Given the description of an element on the screen output the (x, y) to click on. 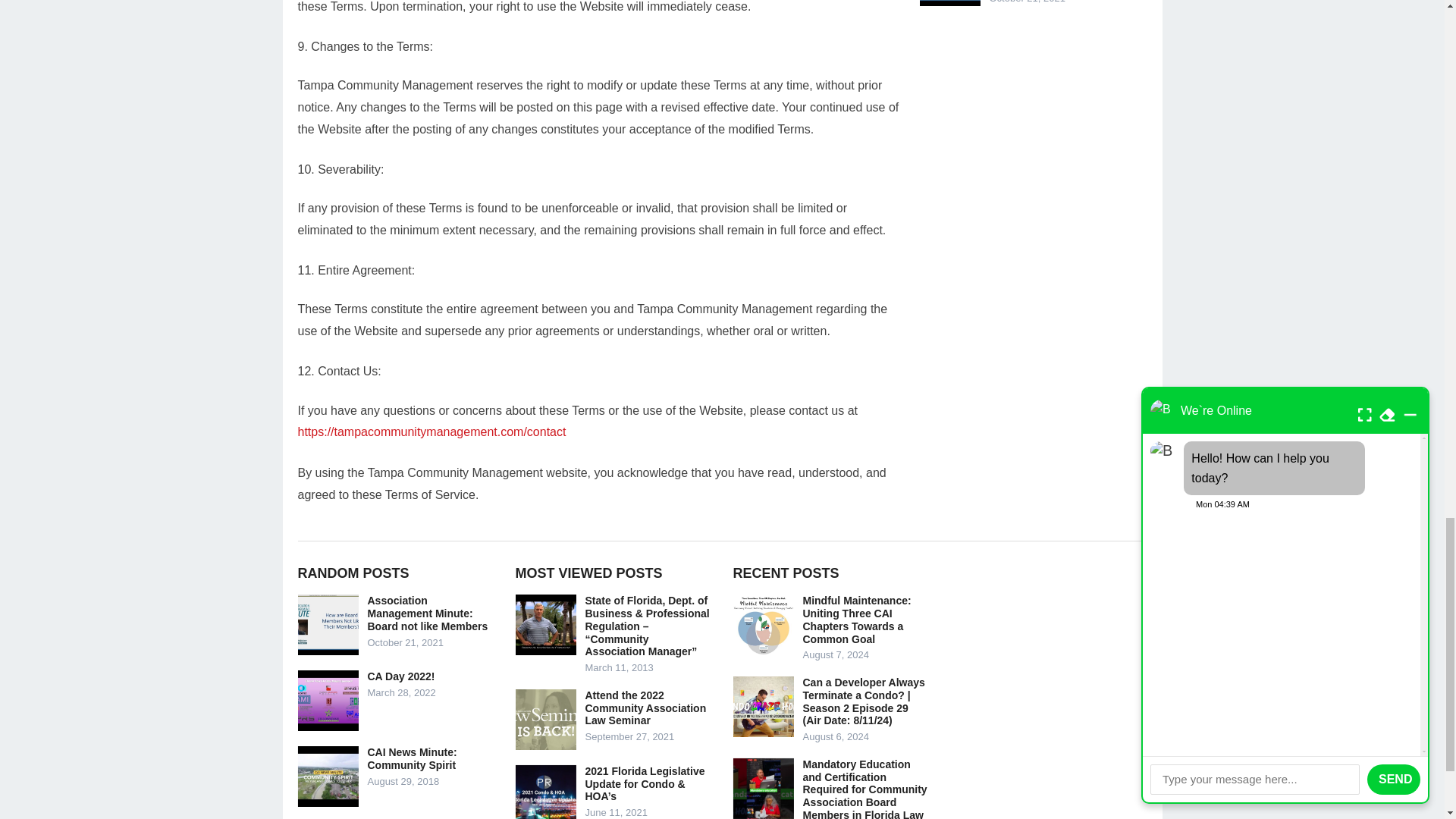
Attend the 2022 Community Association Law Seminar 15 (545, 719)
CA Day 2022! 12 (327, 700)
Association Management Minute: Board not like Members 11 (327, 624)
CAI News Minute: Community Spirit 13 (327, 776)
Association Management Minute: Board not like Members 10 (948, 2)
